Given the description of an element on the screen output the (x, y) to click on. 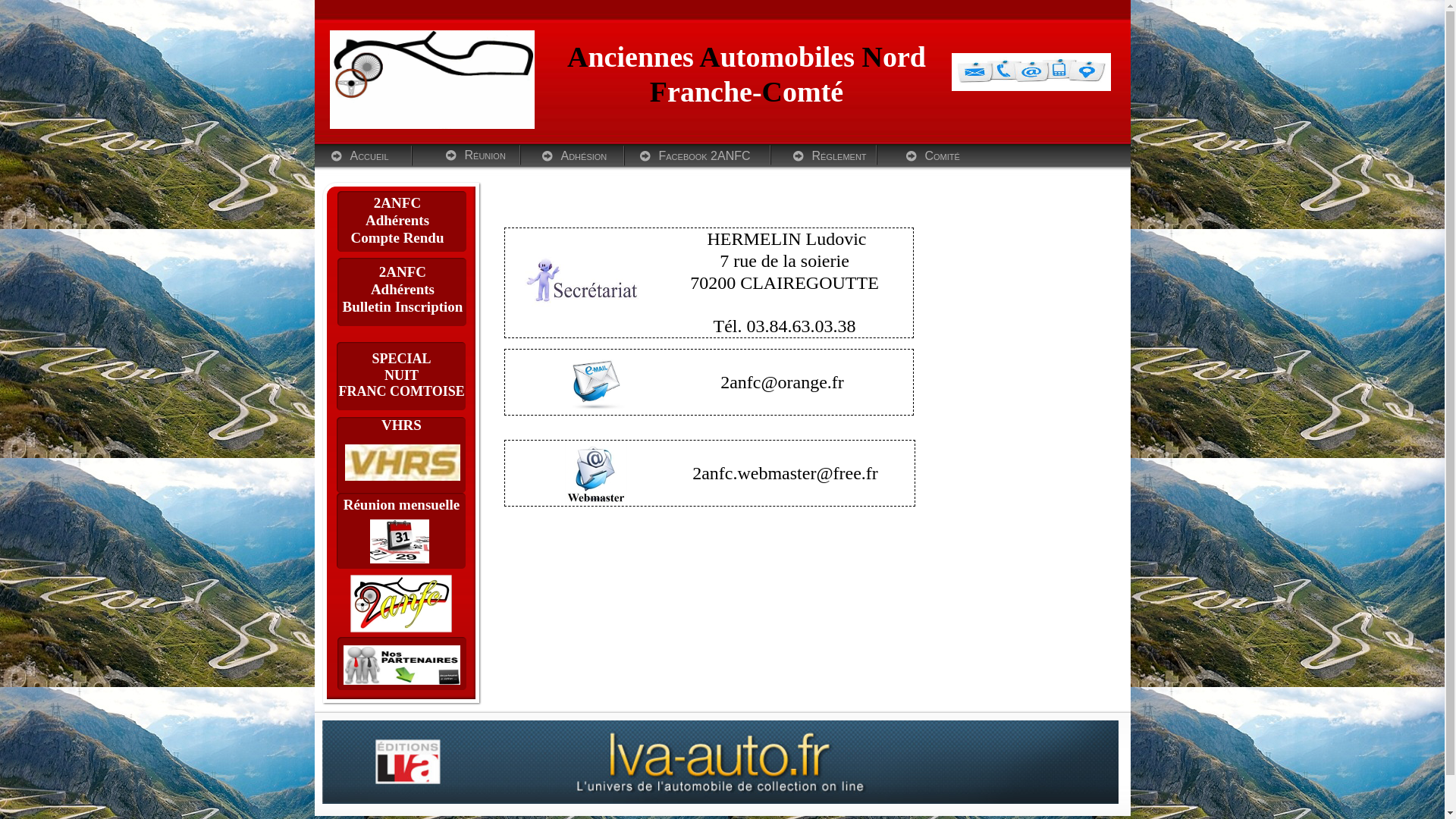
Facebook 2ANFC     Element type: text (702, 155)
Accueil Element type: text (359, 155)
Facebook 2ANFC     Element type: text (710, 155)
Accueil Element type: text (369, 155)
SPECIAL
NUIT
FRANC COMTOISE Element type: text (401, 375)
